Given the description of an element on the screen output the (x, y) to click on. 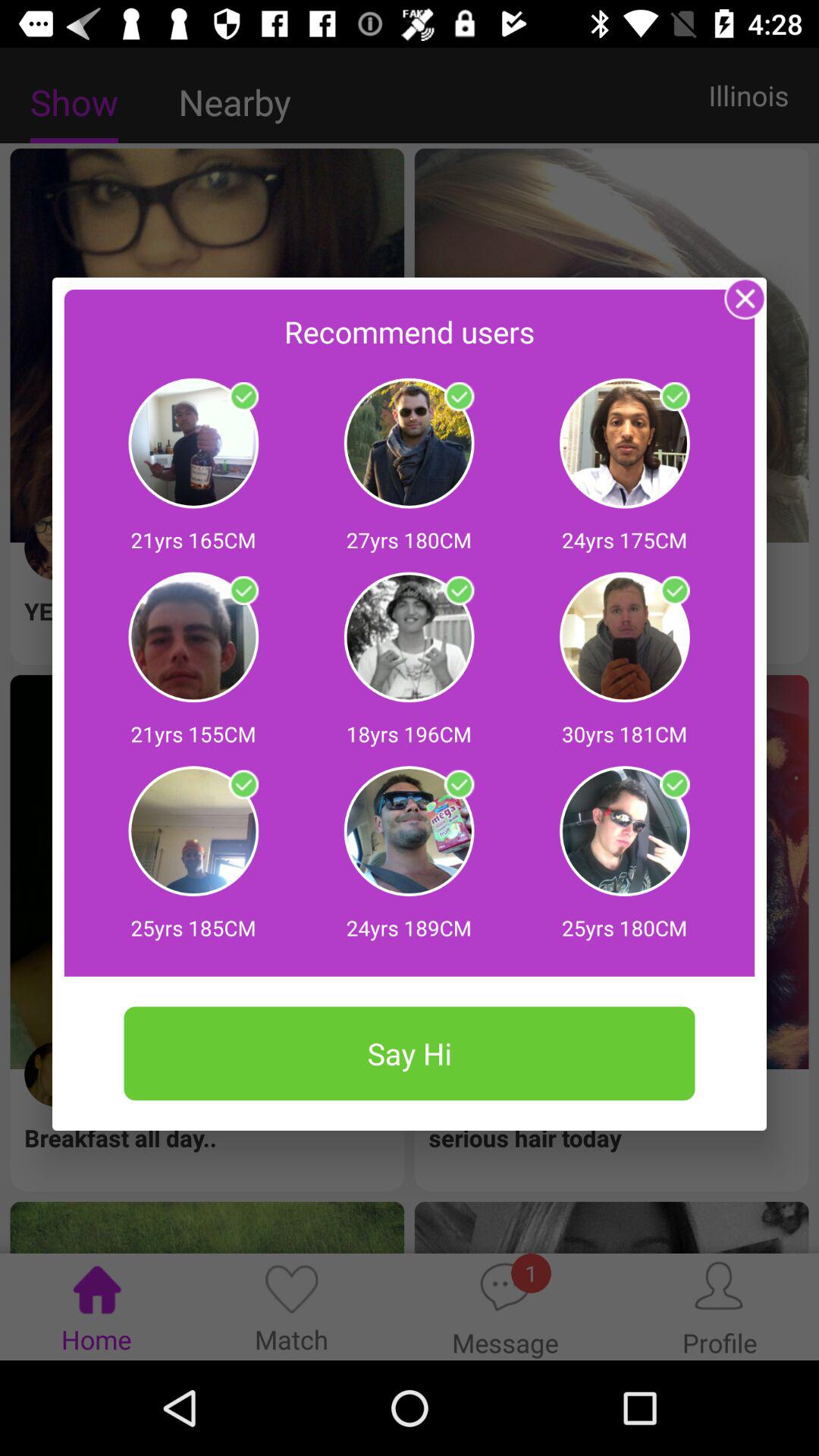
view profile (459, 396)
